Given the description of an element on the screen output the (x, y) to click on. 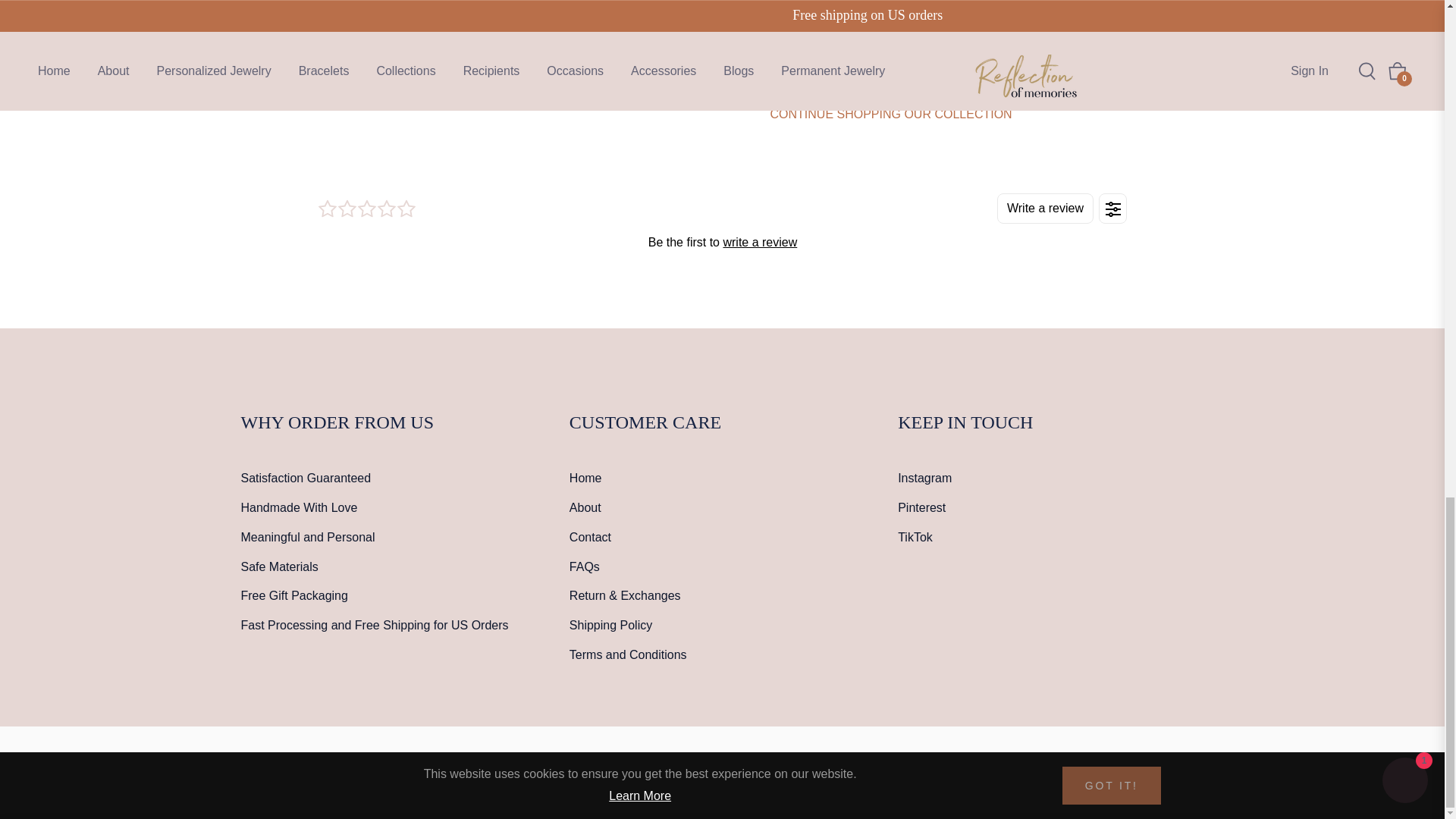
Product reviews widget (722, 222)
